Given the description of an element on the screen output the (x, y) to click on. 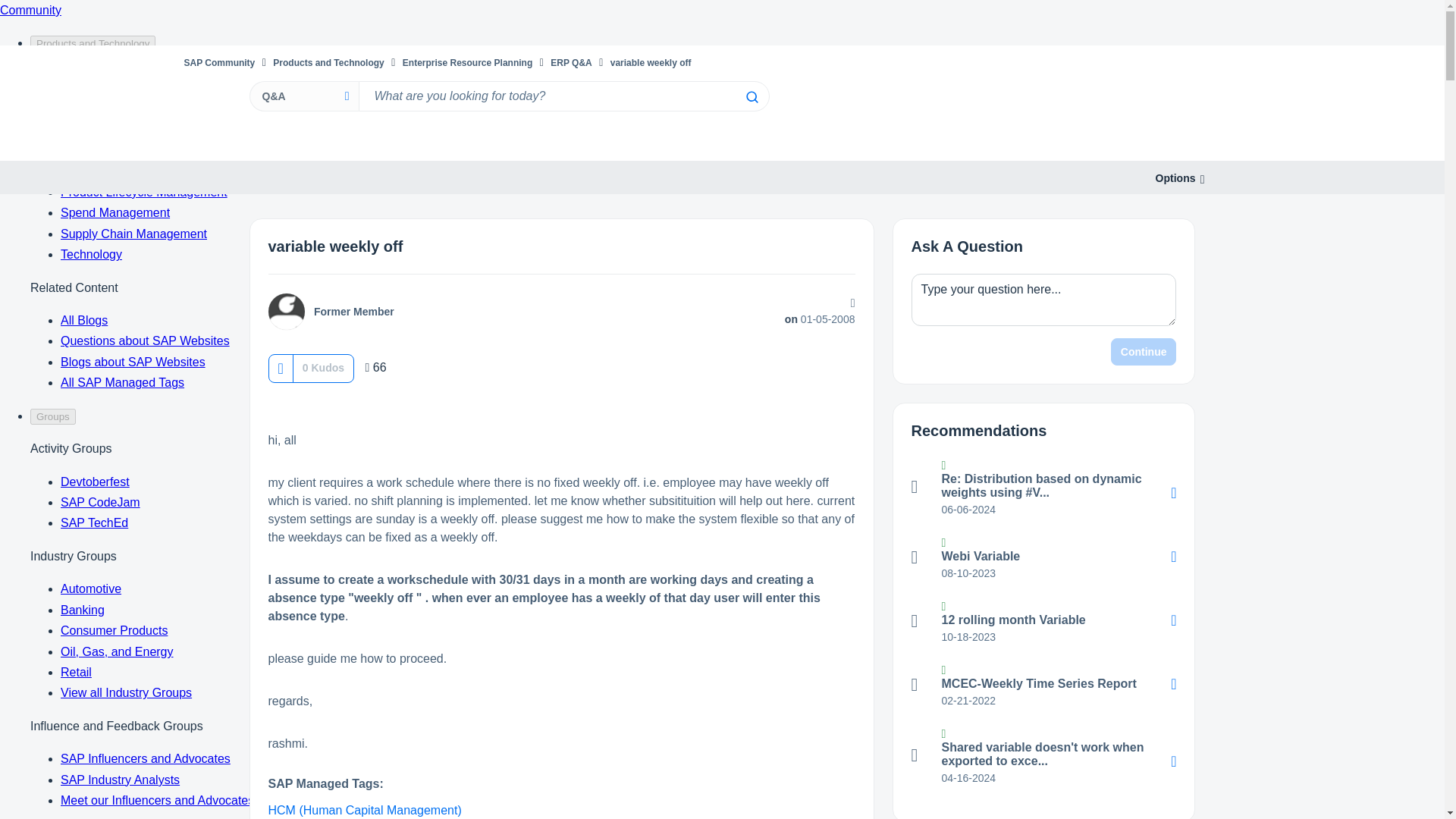
SAP Community (218, 62)
Click here to give kudos to this post. (279, 367)
The total number of kudos this post has received. (323, 367)
Search (563, 96)
Continue (1143, 351)
Products and Technology (328, 62)
Search (750, 96)
Options (1176, 178)
Search (750, 96)
Search Granularity (303, 96)
Show option menu (1176, 178)
Enterprise Resource Planning (467, 62)
Search (750, 96)
